Given the description of an element on the screen output the (x, y) to click on. 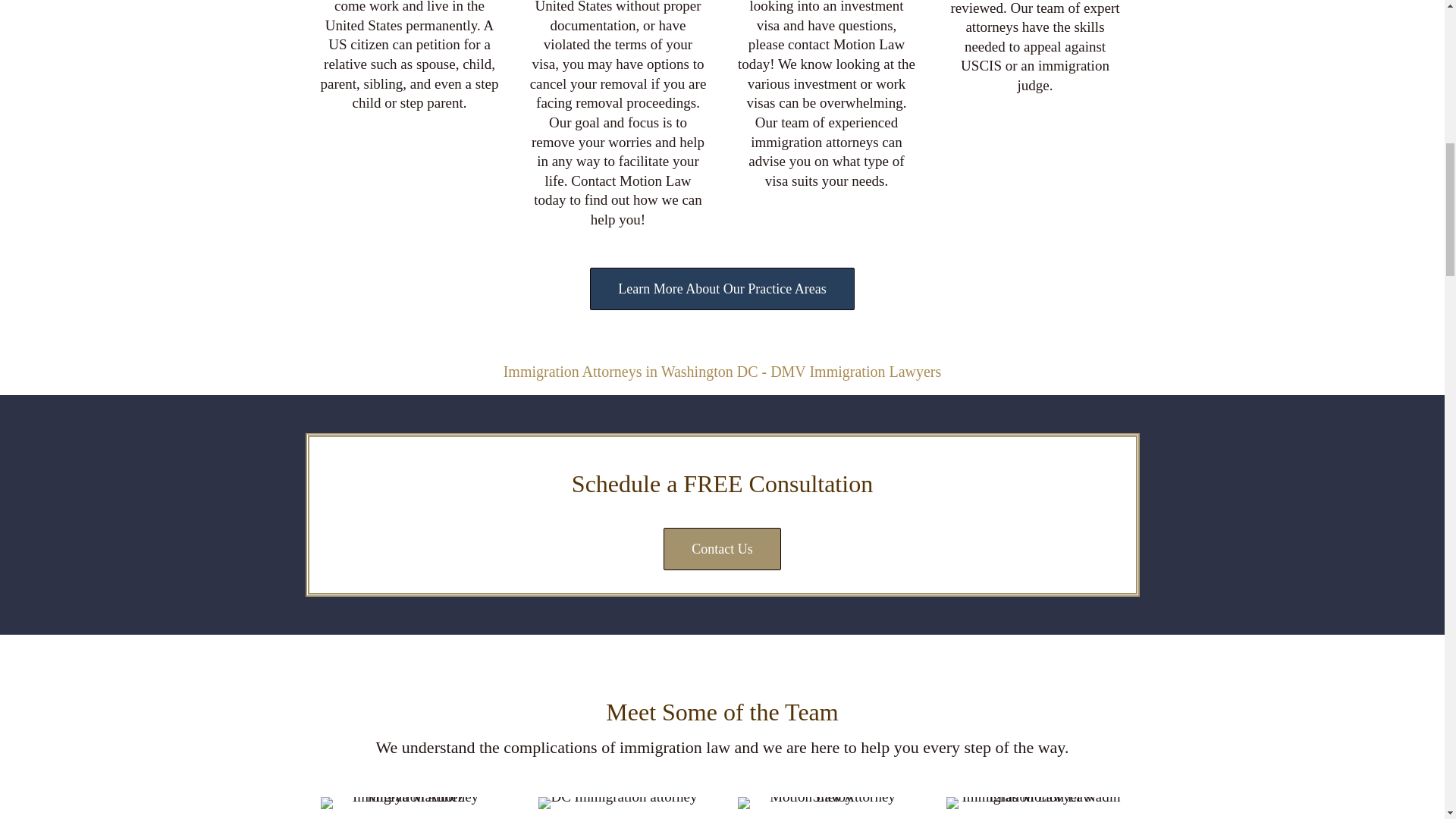
Mireya Martinez Immigration Attorney (408, 802)
Nadin Elias Immigration attorney Washingdon DC (1035, 802)
Shelby Scibetta Attorney (825, 802)
Adil S Qaiyumi (617, 802)
